Given the description of an element on the screen output the (x, y) to click on. 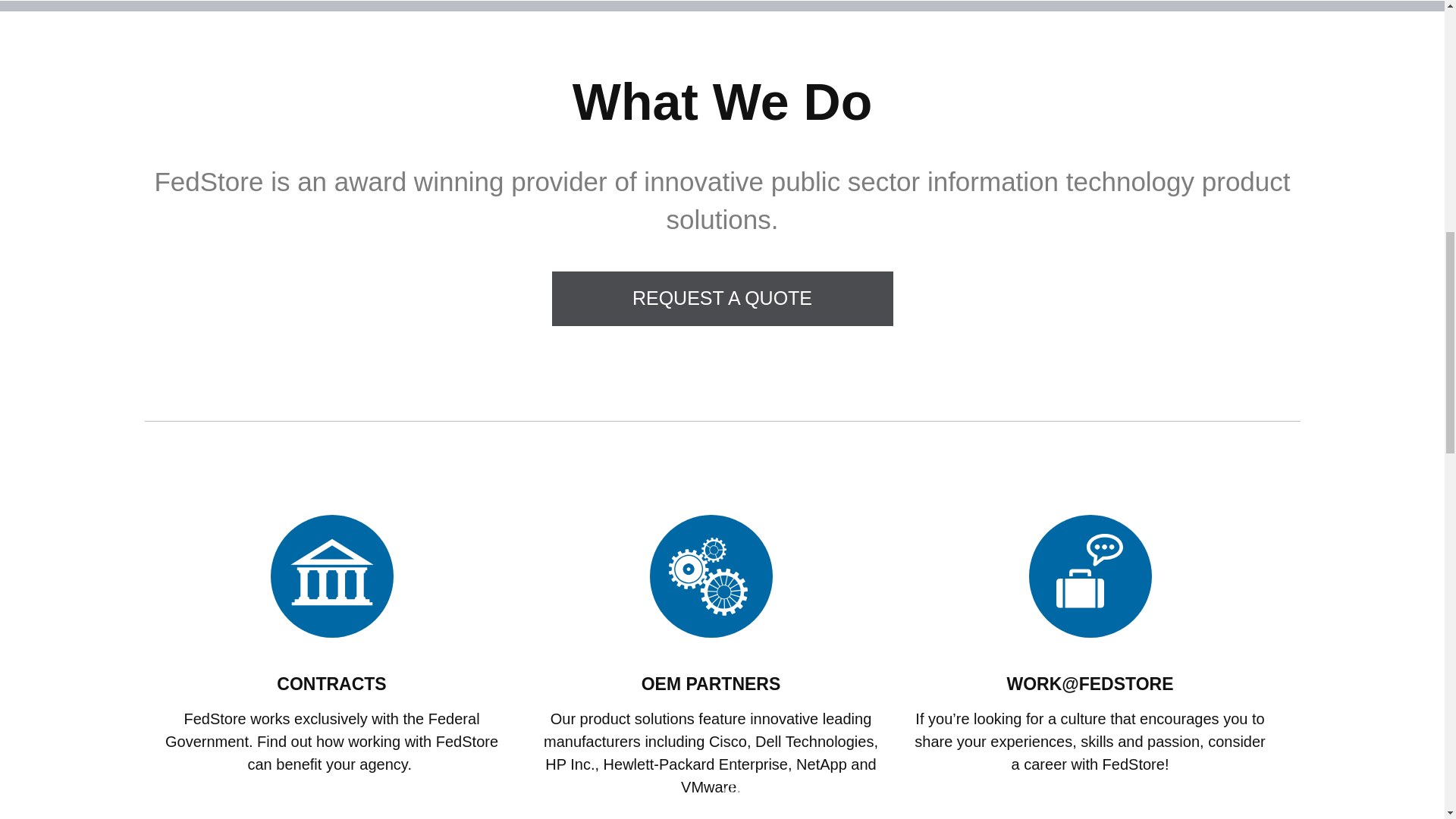
REQUEST A QUOTE (722, 298)
OEM PARTNERS (711, 683)
Contracts (330, 683)
Work (1090, 575)
CONTRACTS (330, 683)
Contracts (331, 575)
Contact Us (722, 298)
Contracts (331, 575)
OEM Partners (710, 575)
